Given the description of an element on the screen output the (x, y) to click on. 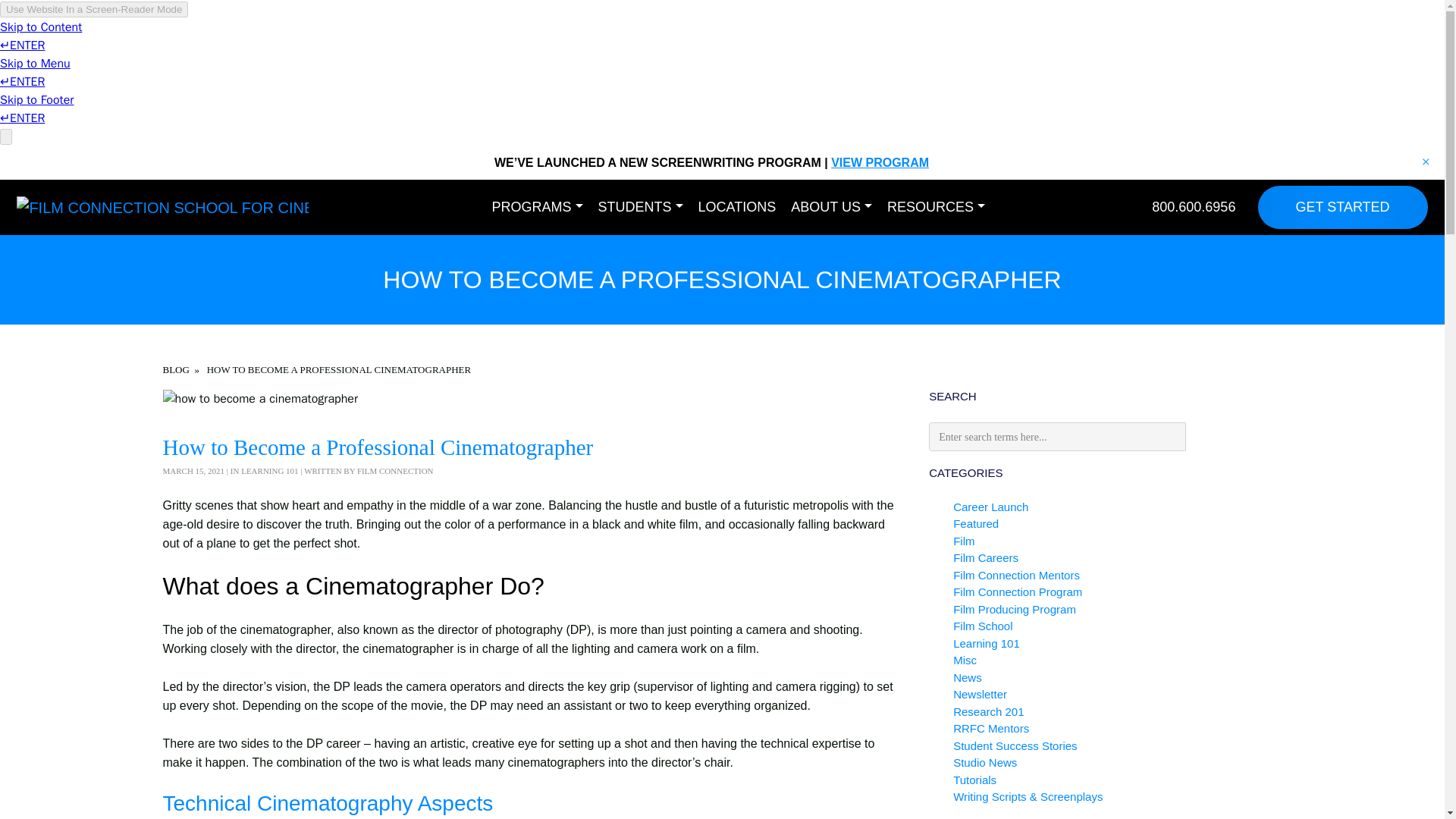
GET STARTED (1342, 207)
STUDENTS (640, 207)
Students (640, 207)
VIEW PROGRAM (879, 162)
Programs (537, 207)
LOCATIONS (737, 207)
About Us (831, 207)
RESOURCES (935, 207)
ABOUT US (831, 207)
Locations (737, 207)
PROGRAMS (537, 207)
800.600.6956 (1192, 206)
